Given the description of an element on the screen output the (x, y) to click on. 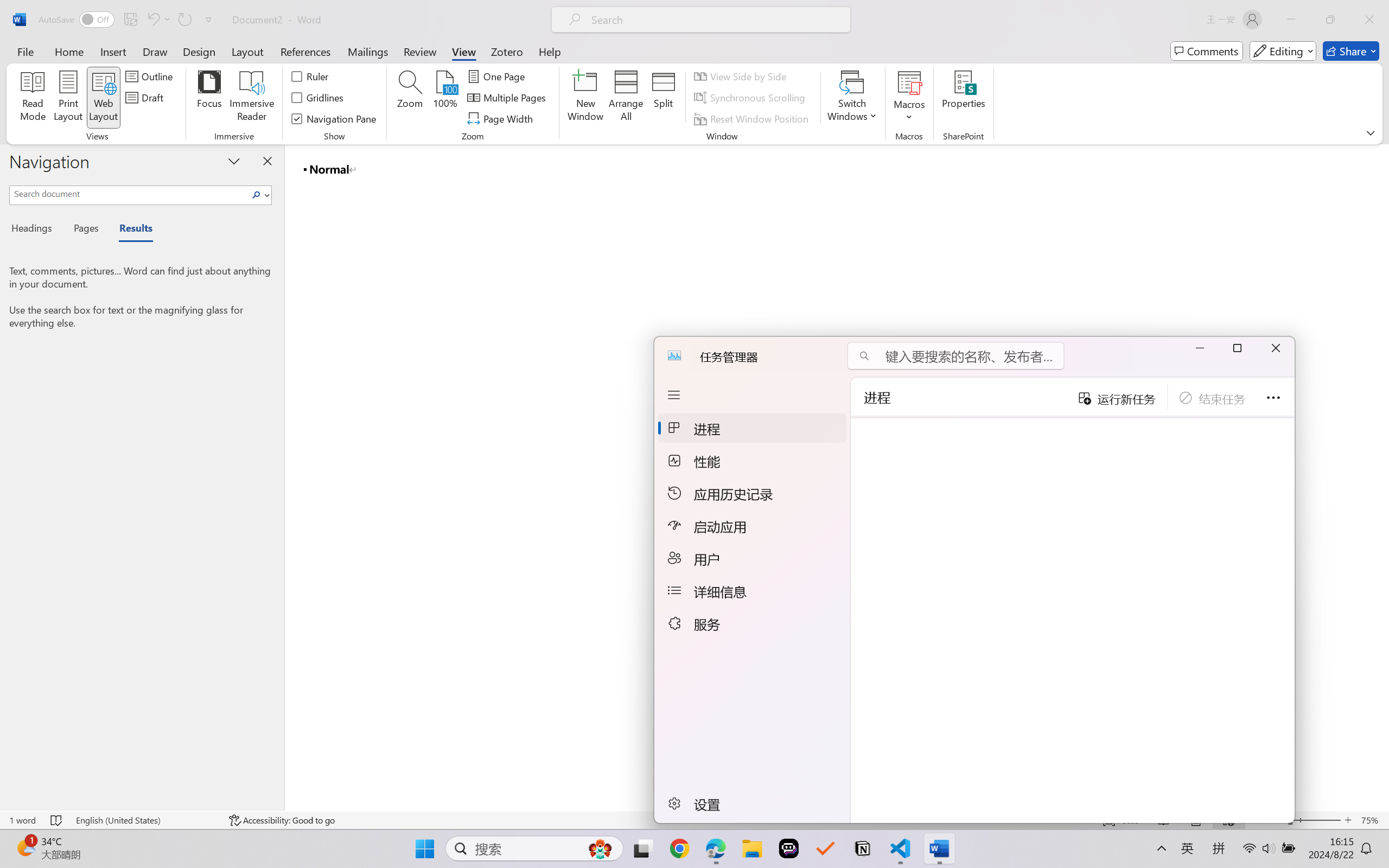
Undo <ApplyStyleToDoc>b__0 (152, 19)
Search (259, 194)
Search (256, 194)
Switch Windows (852, 97)
Results (130, 229)
Multiple Pages (507, 97)
Headings (35, 229)
Design (199, 51)
